Given the description of an element on the screen output the (x, y) to click on. 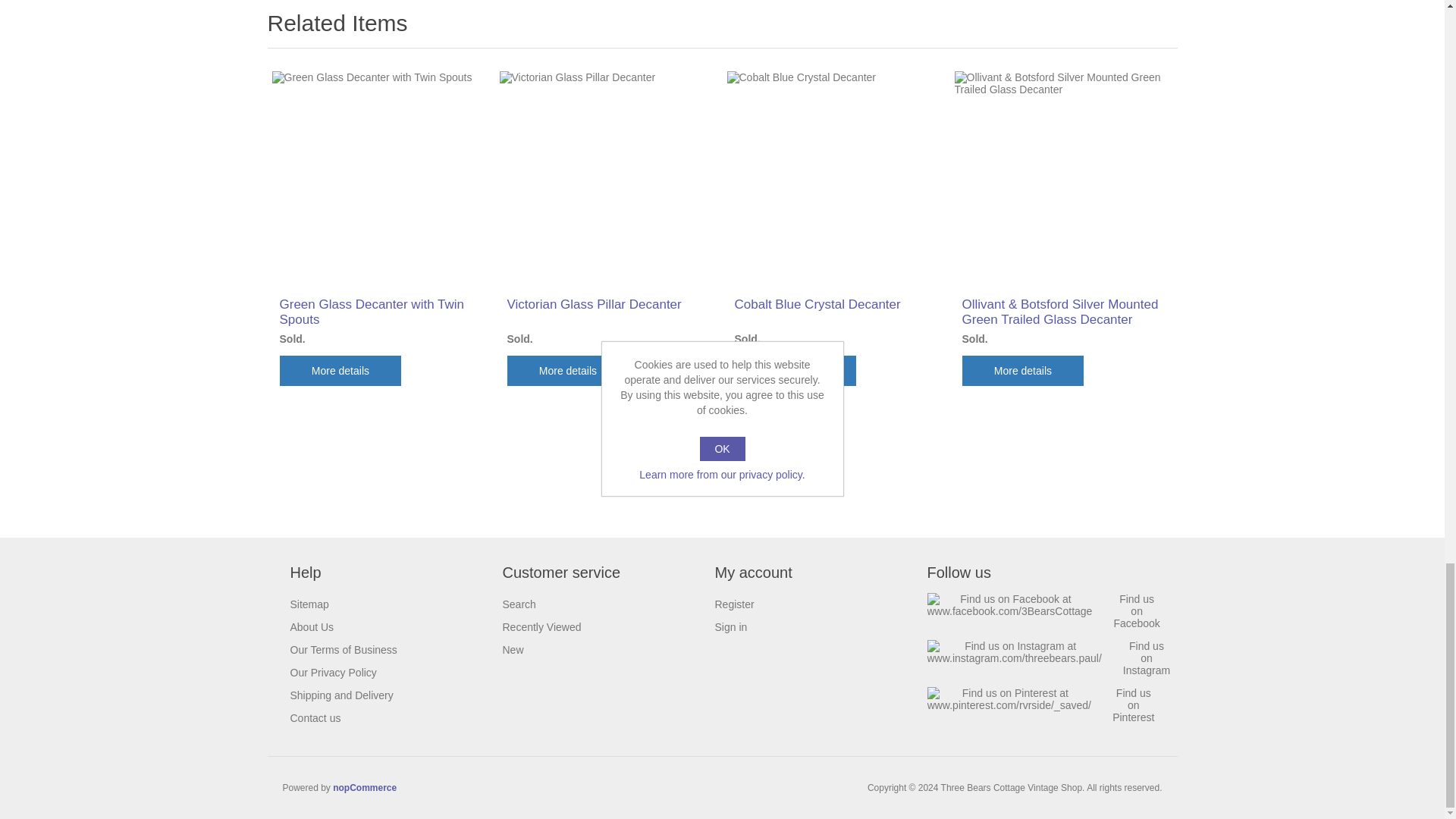
More details (340, 370)
More details (567, 370)
Add to wish list (648, 370)
More details (1021, 370)
More details (794, 370)
